Given the description of an element on the screen output the (x, y) to click on. 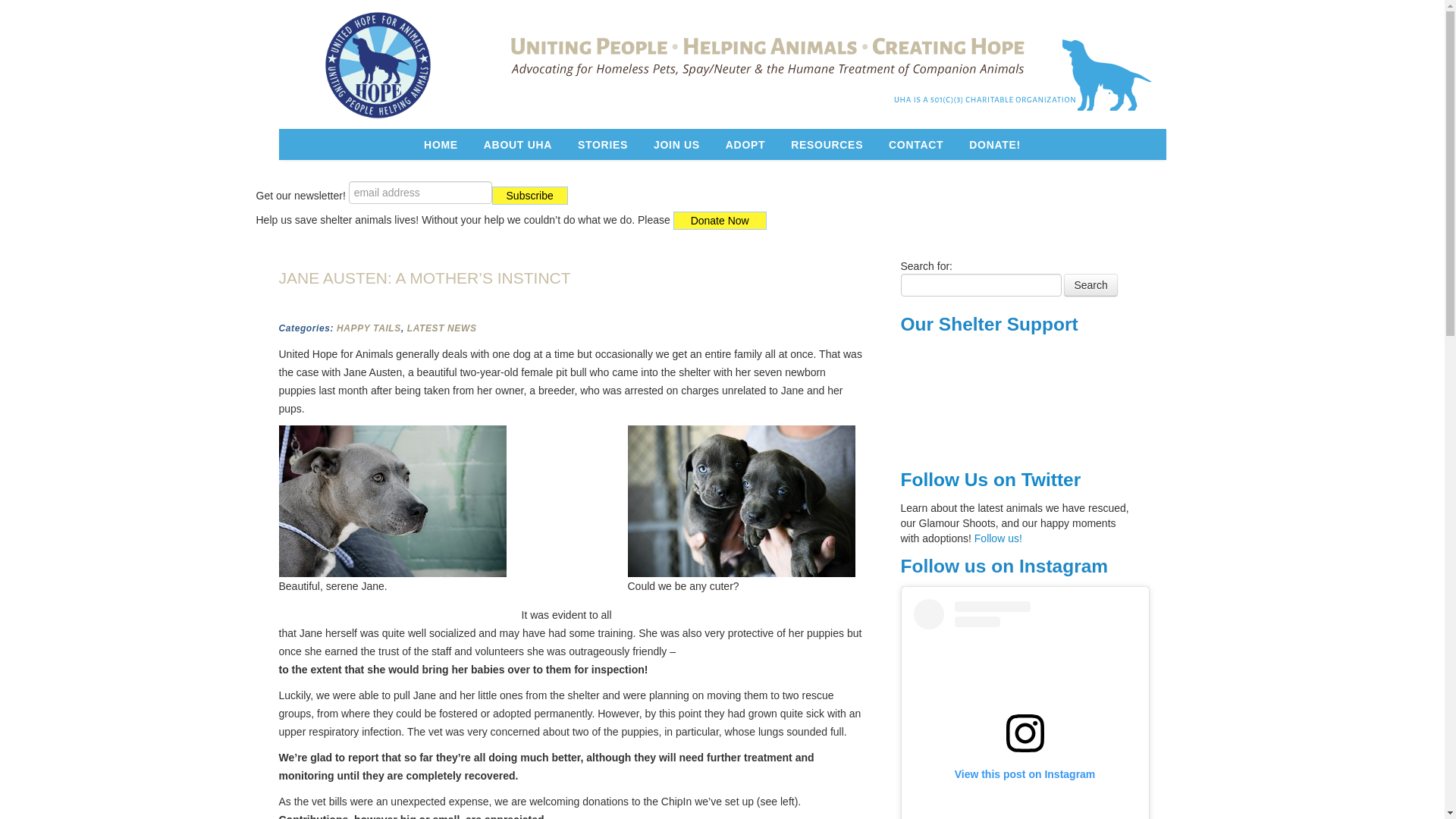
A4296961- Jane Austin-pups (741, 501)
RESOURCES (826, 144)
ABOUT UHA (517, 144)
STORIES (602, 144)
Subscribe (529, 195)
Donate Now (719, 220)
ADOPT (745, 144)
CONTACT (916, 144)
DONATE! (995, 144)
Subscribe (529, 195)
HAPPY TAILS (368, 327)
LATEST NEWS (442, 327)
A4296961-Jane Austin (392, 501)
HOME (440, 144)
JOIN US (676, 144)
